Given the description of an element on the screen output the (x, y) to click on. 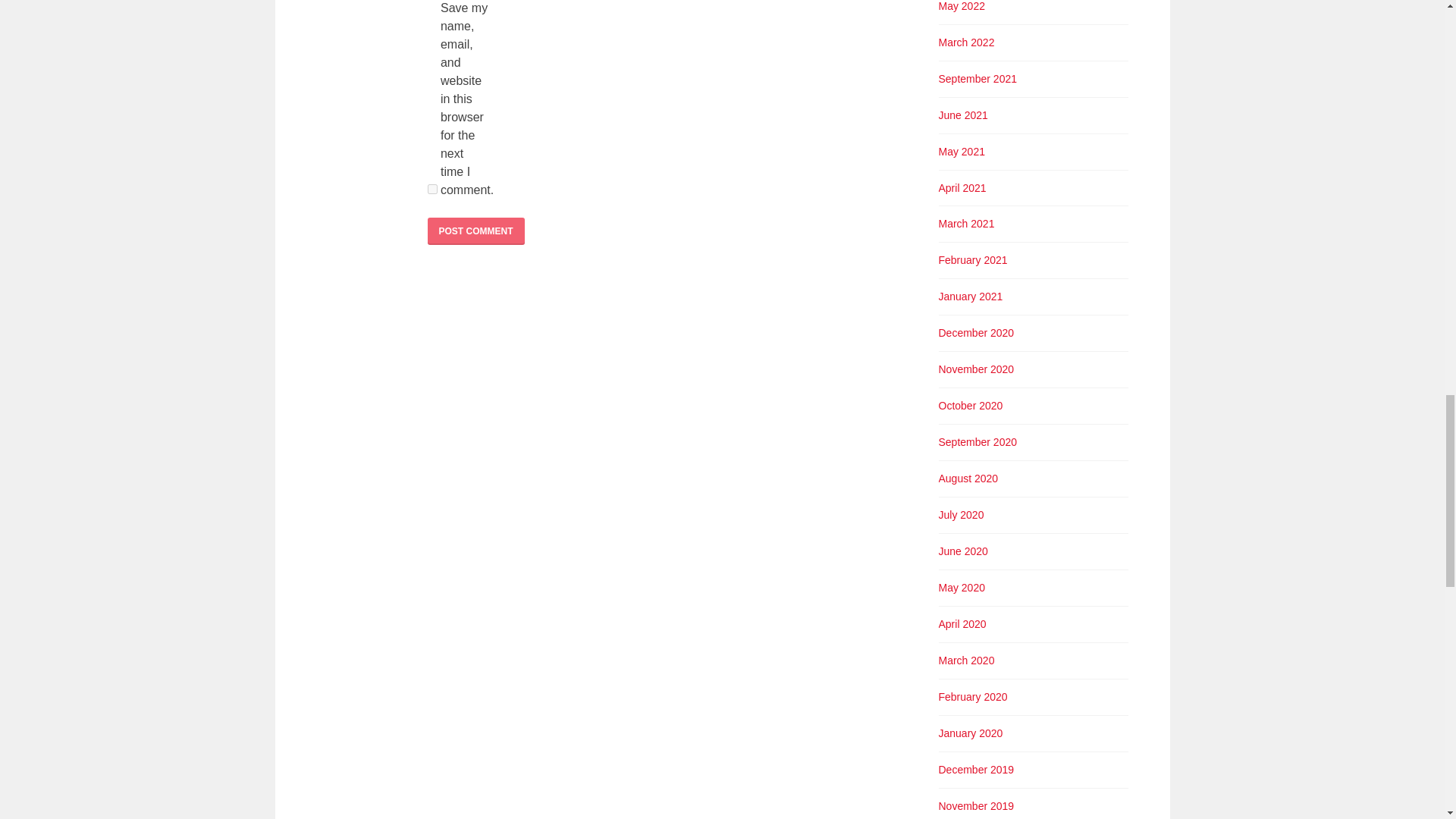
Post Comment (476, 230)
Post Comment (476, 230)
yes (433, 189)
